Given the description of an element on the screen output the (x, y) to click on. 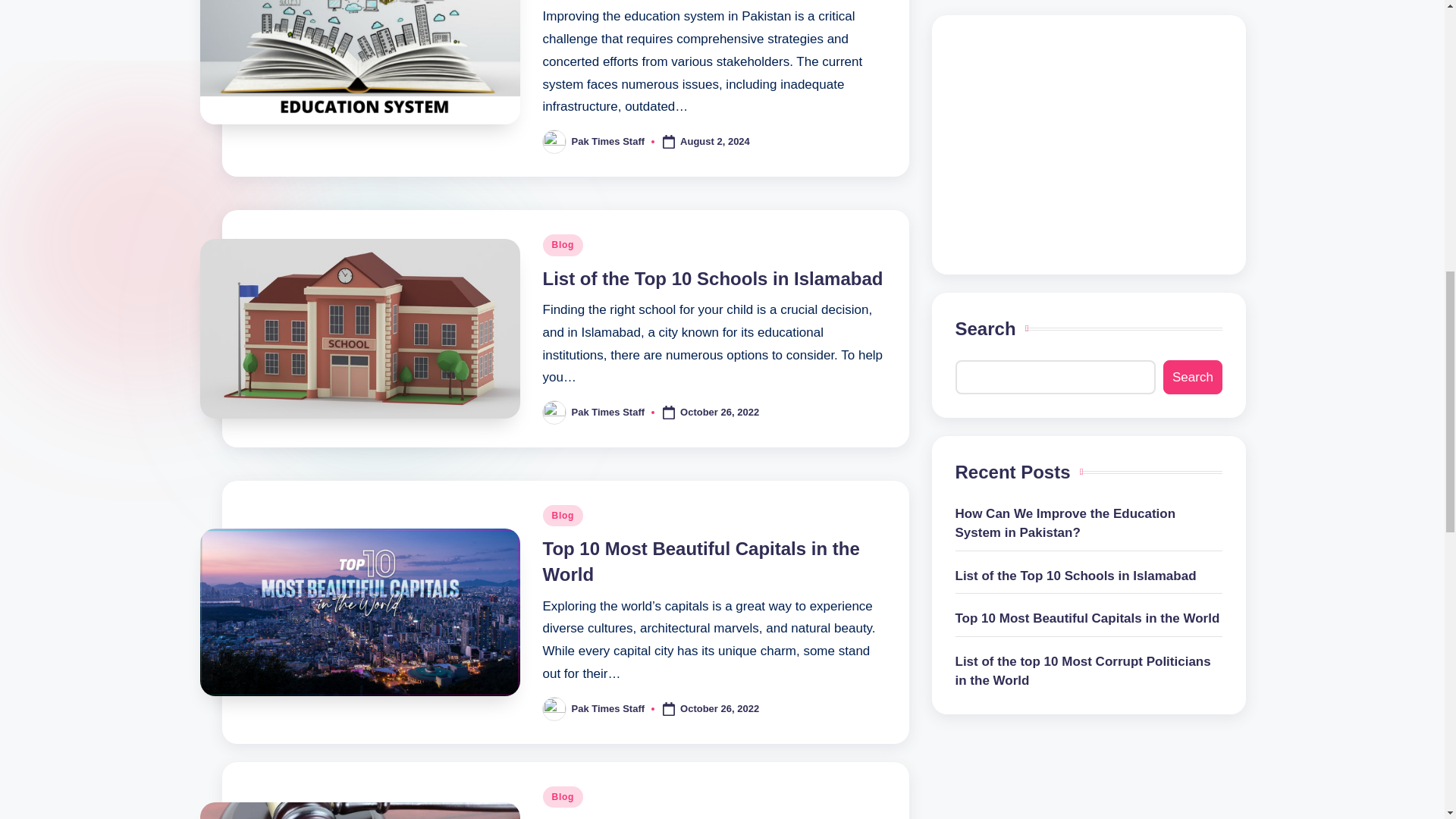
Blog (563, 244)
List of the Top 10 Schools in Islamabad (713, 278)
Pak Times Staff (608, 141)
List of the Top 10 Schools in Islamabad (713, 278)
Top 10 Most Beautiful Capitals in the World (701, 561)
View all posts by Pak Times Staff (608, 708)
View all posts by Pak Times Staff (608, 411)
View all posts by Pak Times Staff (608, 141)
Pak Times Staff (608, 411)
